Given the description of an element on the screen output the (x, y) to click on. 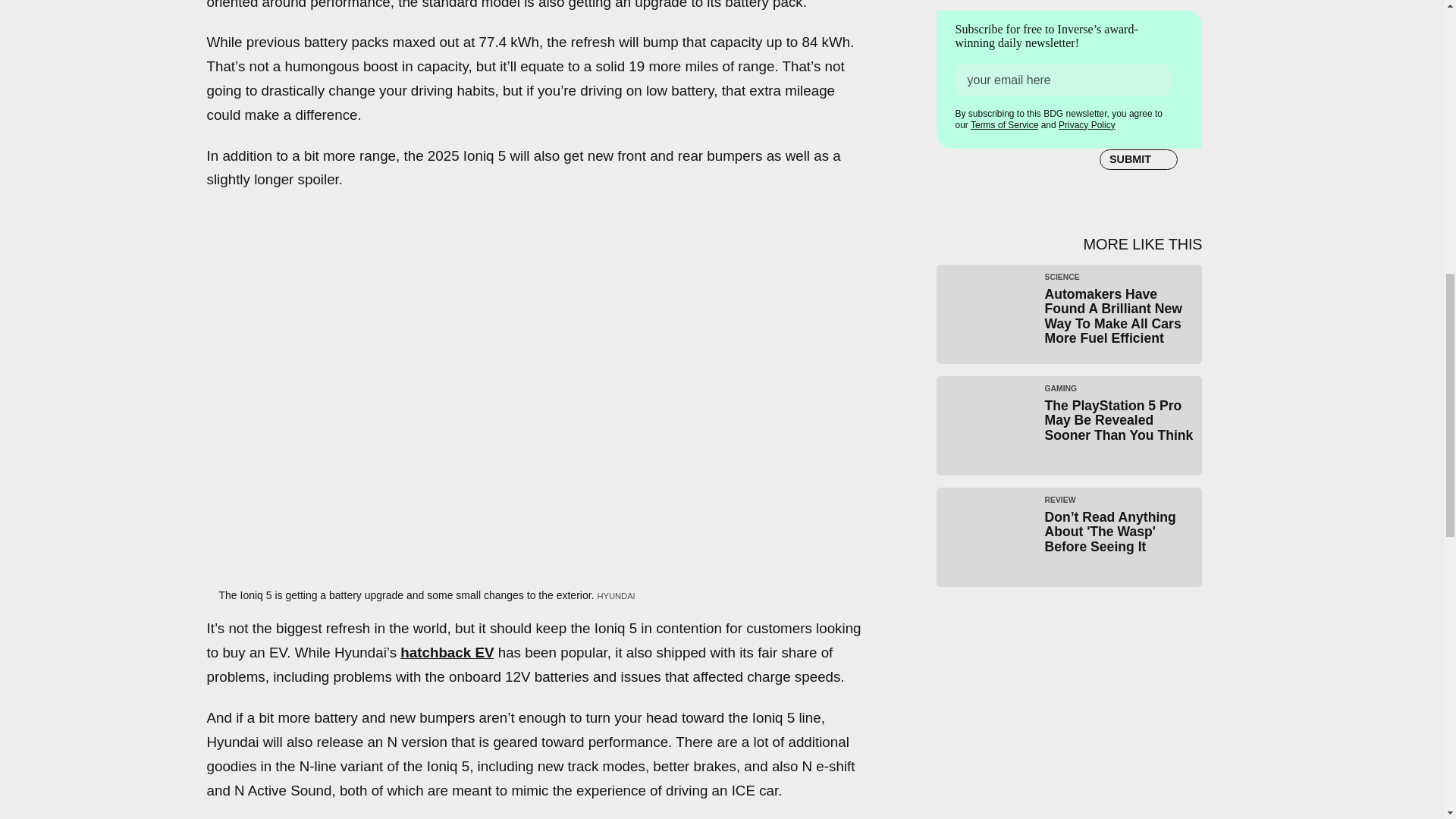
Privacy Policy (1086, 122)
hatchback EV (446, 652)
Terms of Service (1004, 122)
SUBMIT (1138, 156)
